Given the description of an element on the screen output the (x, y) to click on. 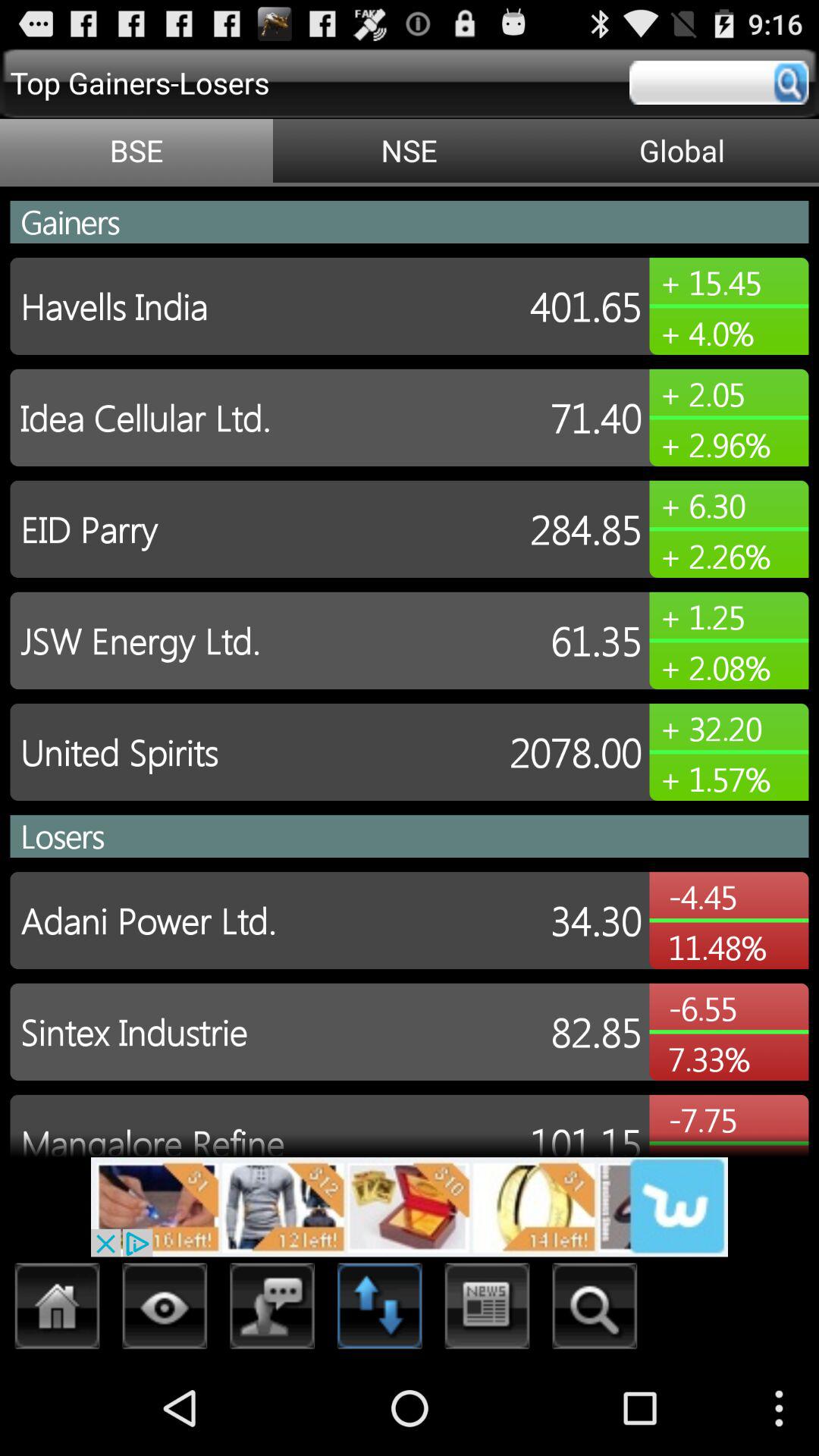
toggle to advertisement box (409, 1206)
